Given the description of an element on the screen output the (x, y) to click on. 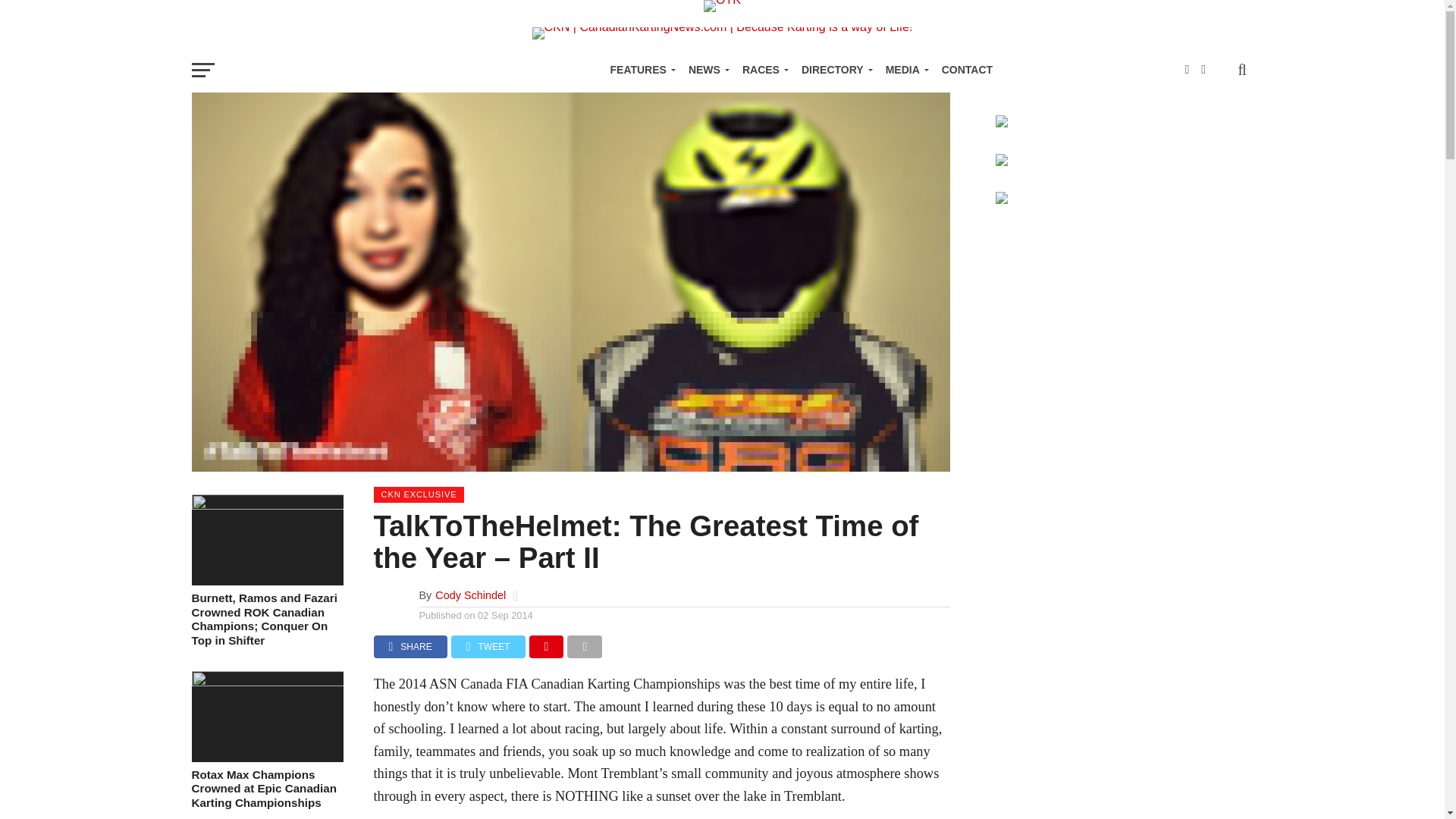
FEATURES (638, 69)
Posts by Cody Schindel (470, 594)
OTK (722, 2)
NEWS (706, 69)
